Given the description of an element on the screen output the (x, y) to click on. 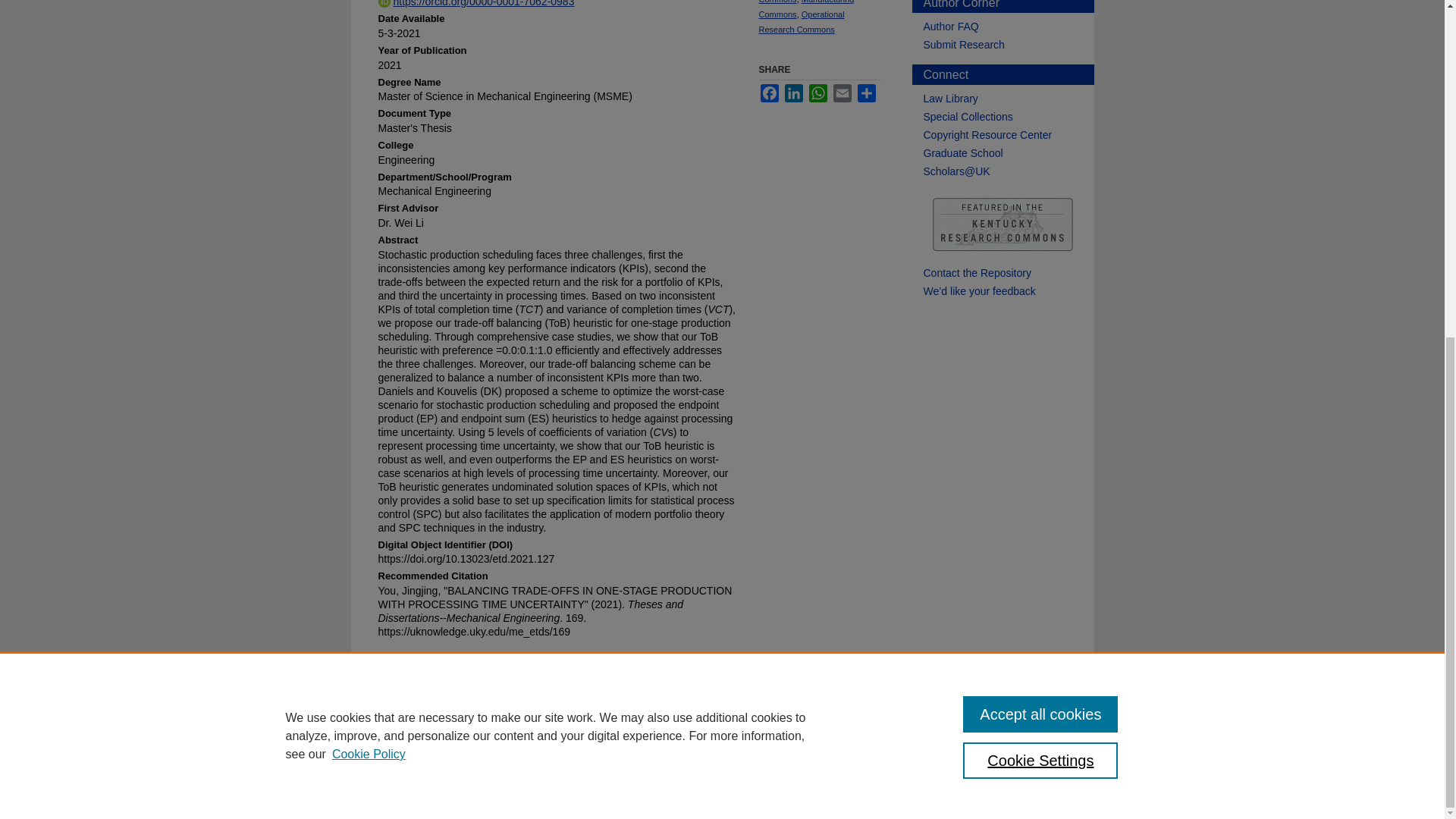
Operational Research Commons (801, 21)
LinkedIn (793, 93)
Facebook (768, 93)
Email (841, 93)
Share (866, 93)
Manufacturing Commons (805, 9)
WhatsApp (817, 93)
Manufacturing Commons (805, 9)
Industrial Engineering Commons (798, 2)
External link to ORCID ID (475, 5)
Operational Research Commons (801, 21)
Industrial Engineering Commons (798, 2)
